Given the description of an element on the screen output the (x, y) to click on. 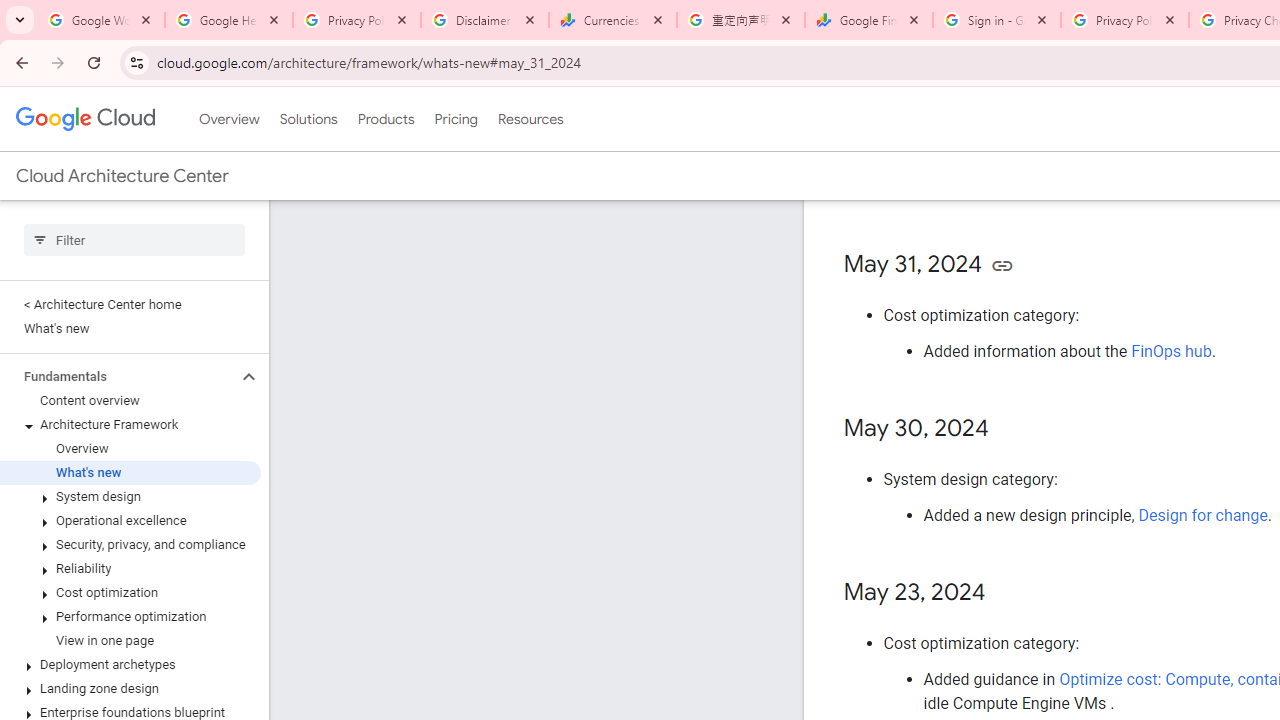
Reliability (130, 569)
Copy link to this section: May 30, 2024 (1008, 429)
What's new (130, 472)
Architecture Framework (130, 425)
Operational excellence (130, 520)
Solutions (308, 119)
Google Workspace Admin Community (101, 20)
System design (130, 497)
View in one page (130, 641)
Copy link to this section: May 31, 2024 (1001, 264)
